Given the description of an element on the screen output the (x, y) to click on. 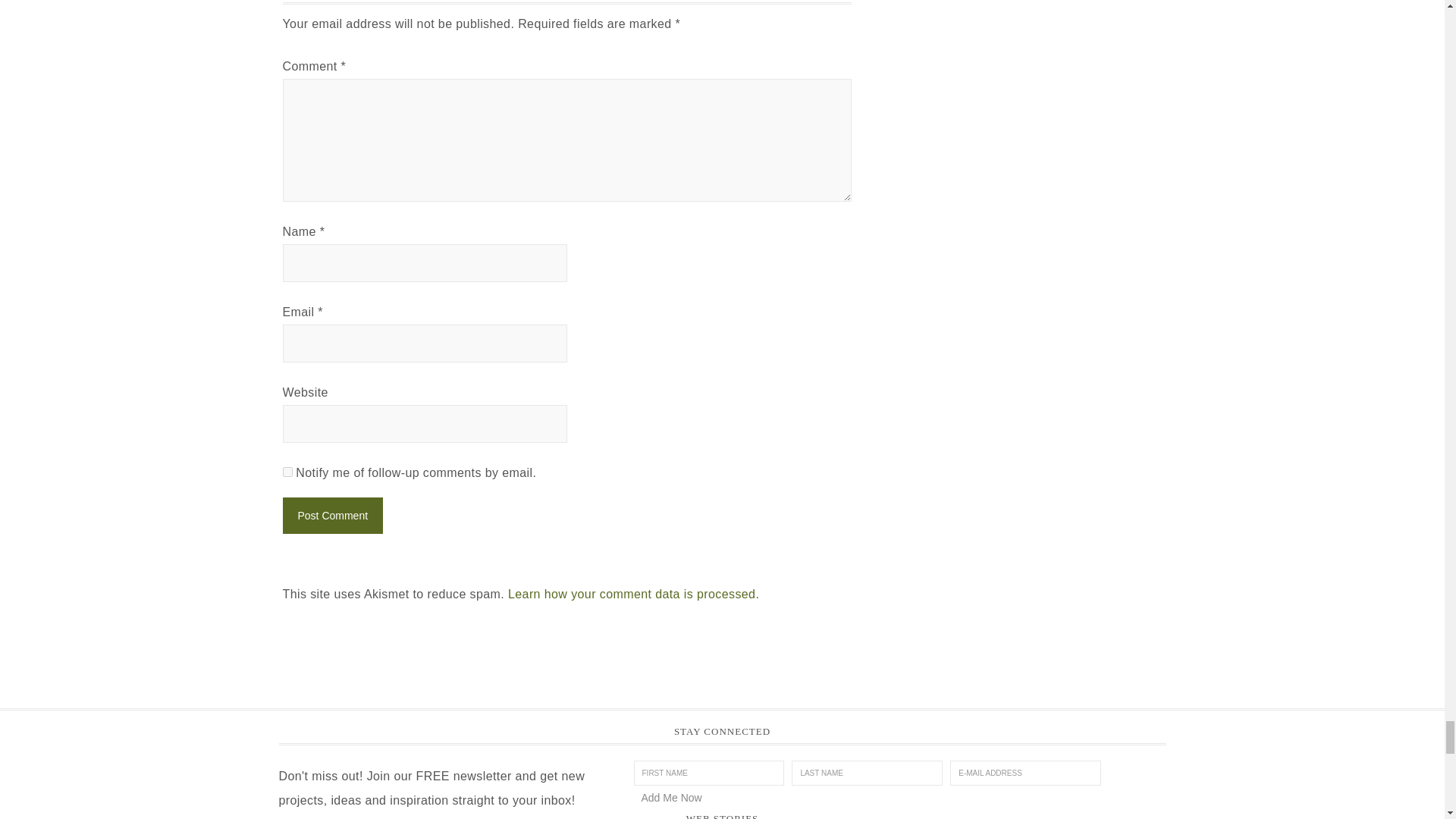
subscribe (287, 471)
Post Comment (332, 515)
